Given the description of an element on the screen output the (x, y) to click on. 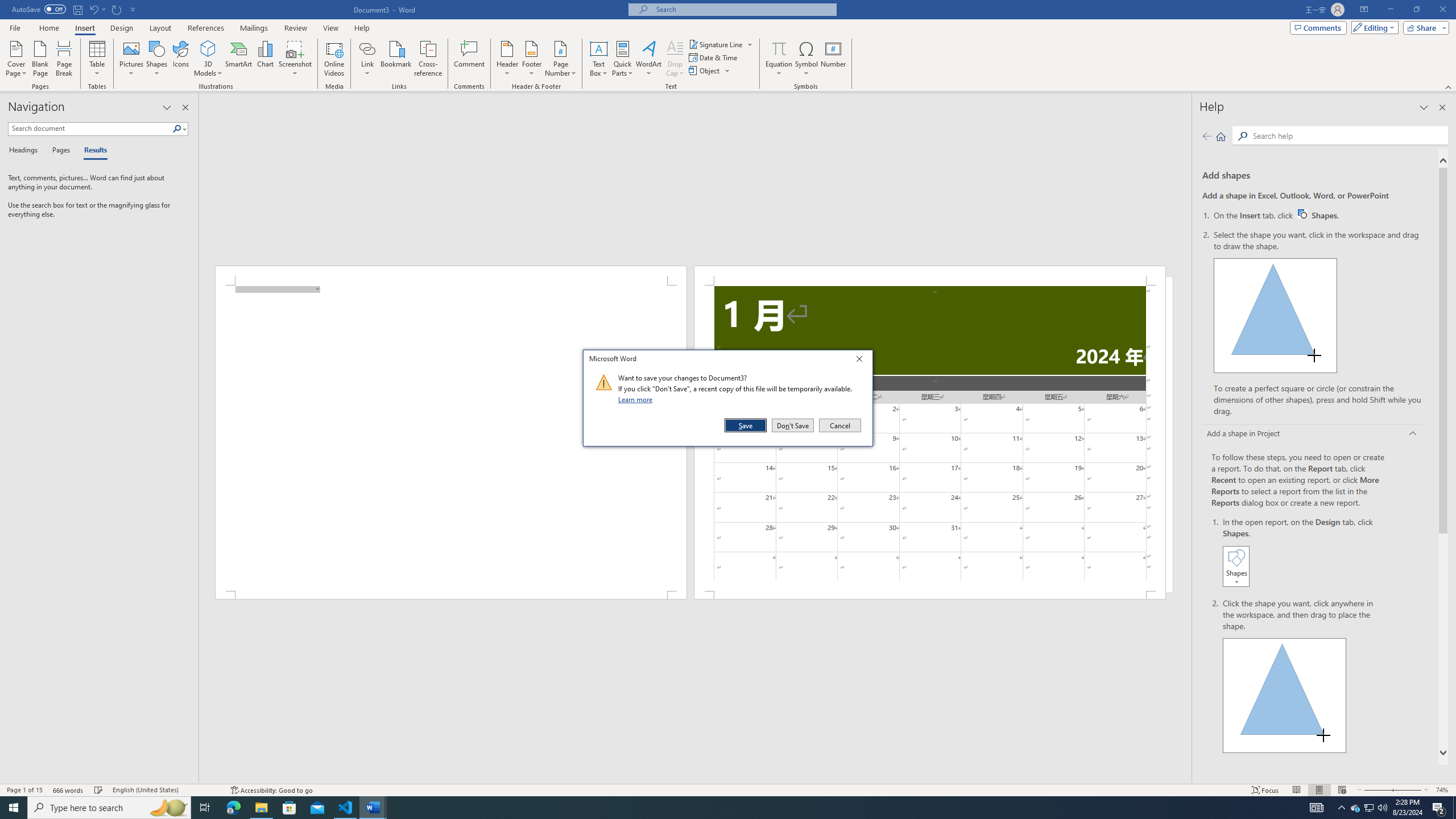
Object... (709, 69)
Headings (25, 150)
Search (177, 128)
Task Pane Options (167, 107)
Notification Chevron (1341, 807)
Results (91, 150)
System (6, 6)
Signature Line (721, 44)
Home (1220, 136)
Insert (1318, 214)
SmartArt... (83, 28)
Microsoft Store (238, 58)
Mailings (289, 807)
Microsoft search (253, 28)
